Given the description of an element on the screen output the (x, y) to click on. 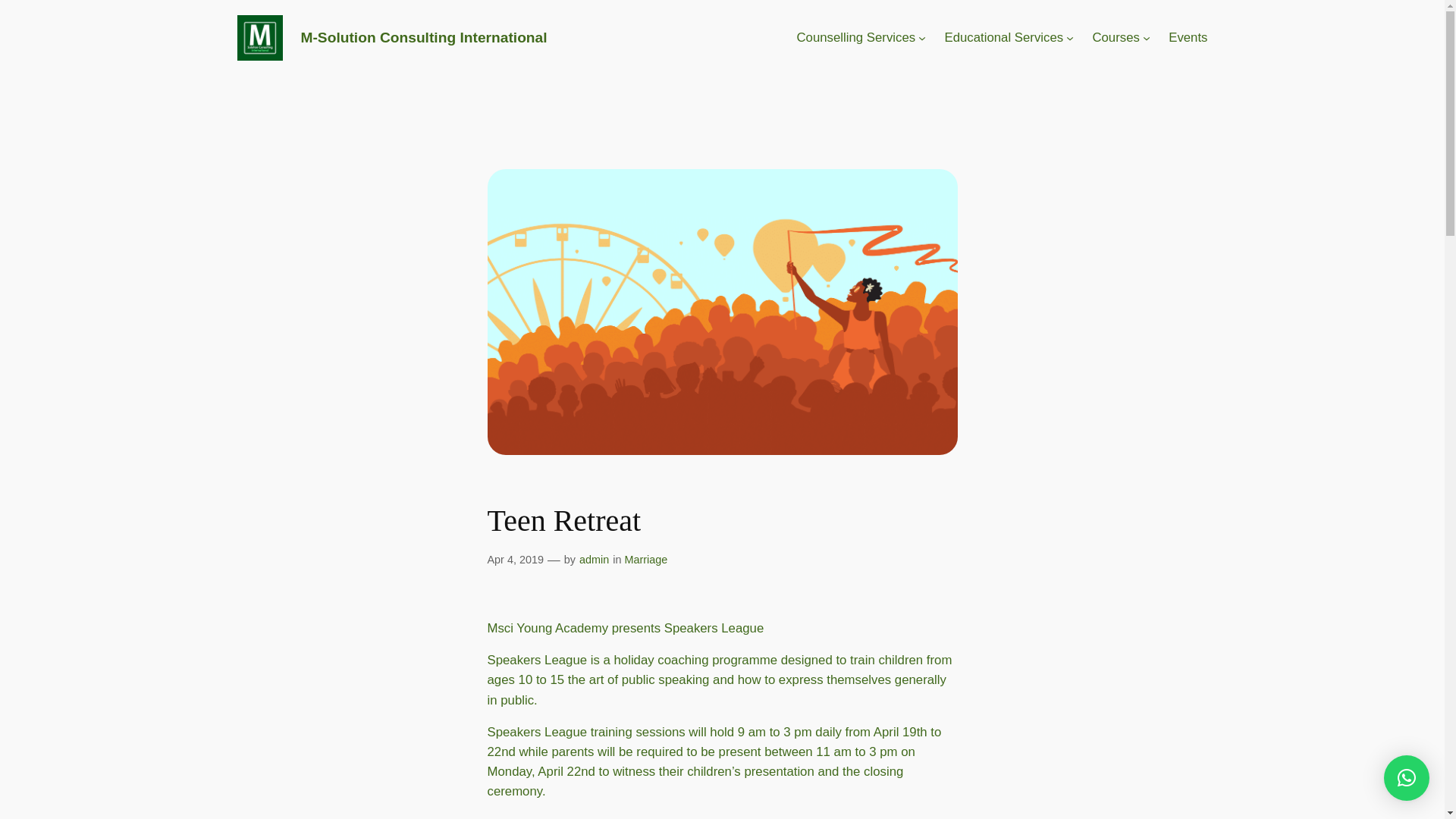
Counselling Services (855, 37)
M-Solution Consulting International (423, 37)
Apr 4, 2019 (514, 559)
Courses (1116, 37)
Events (1188, 37)
admin (593, 559)
Marriage (645, 559)
Educational Services (1002, 37)
